Given the description of an element on the screen output the (x, y) to click on. 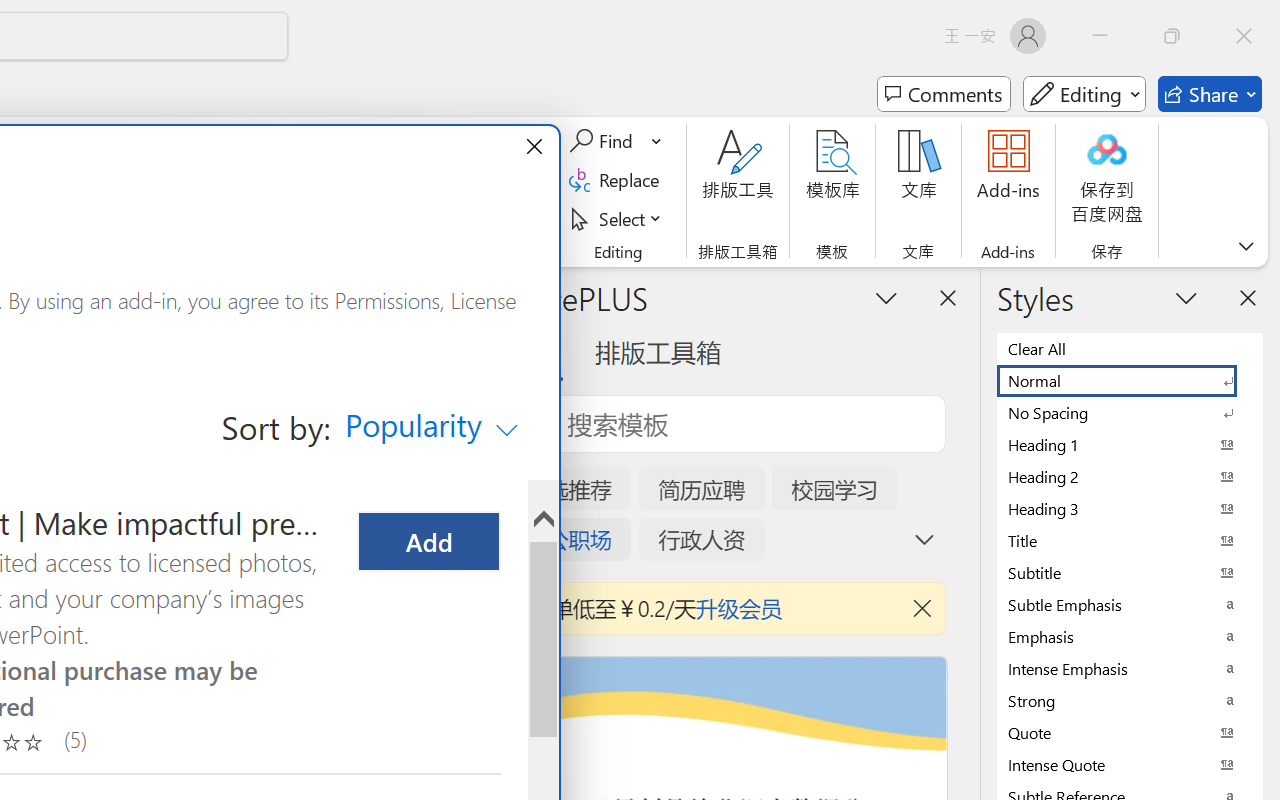
Subtle Emphasis (1130, 604)
Ribbon Display Options (1246, 245)
Quote (1130, 732)
Mode (1083, 94)
Title (1130, 540)
Emphasis (1130, 636)
Minimize (1099, 36)
Heading 2 (1130, 476)
Comments (943, 94)
